Given the description of an element on the screen output the (x, y) to click on. 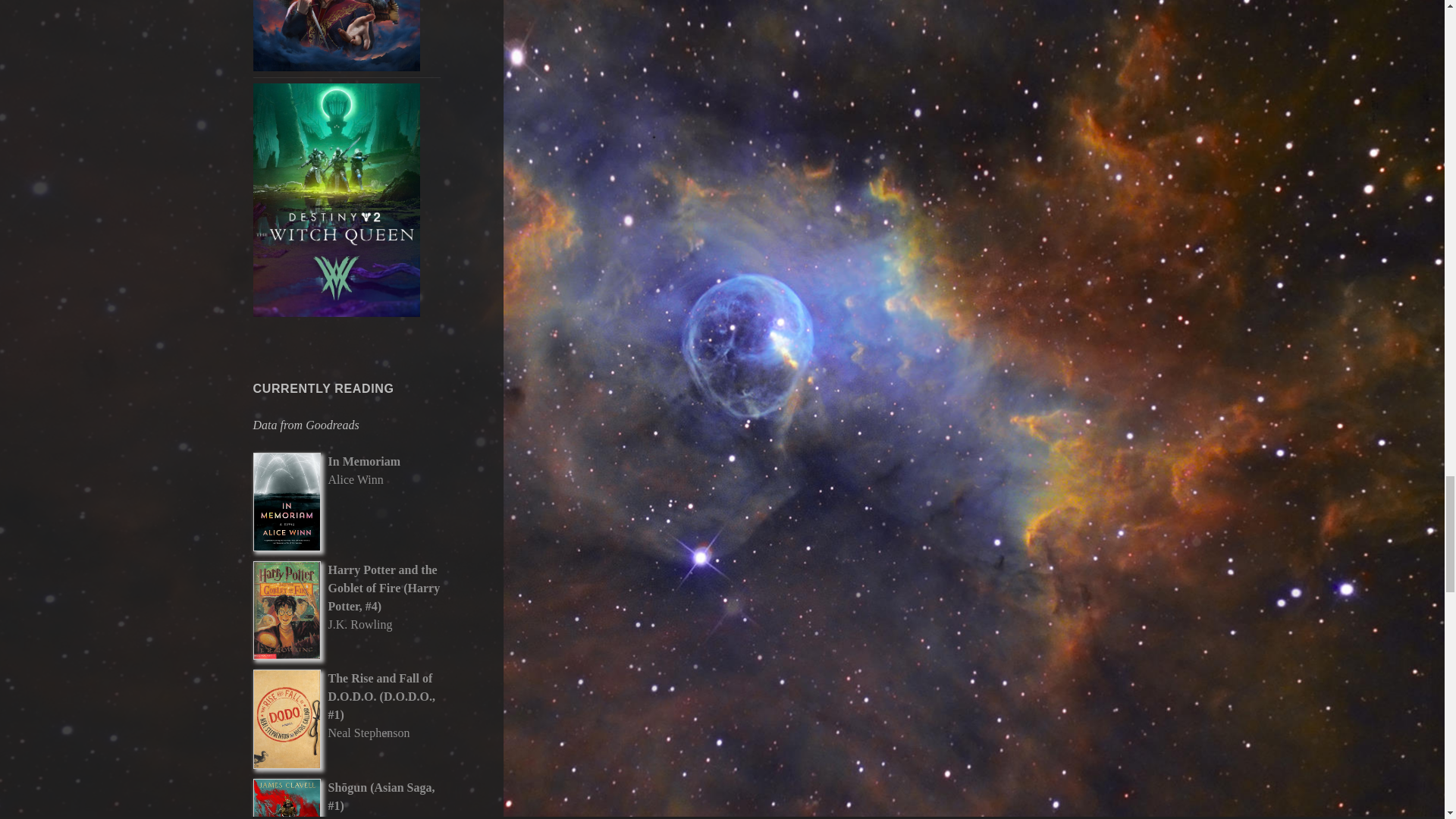
An online-only multiplayer first-person shooter in space! (336, 198)
An online-only multiplayer first-person shooter in space! (336, 199)
